Given the description of an element on the screen output the (x, y) to click on. 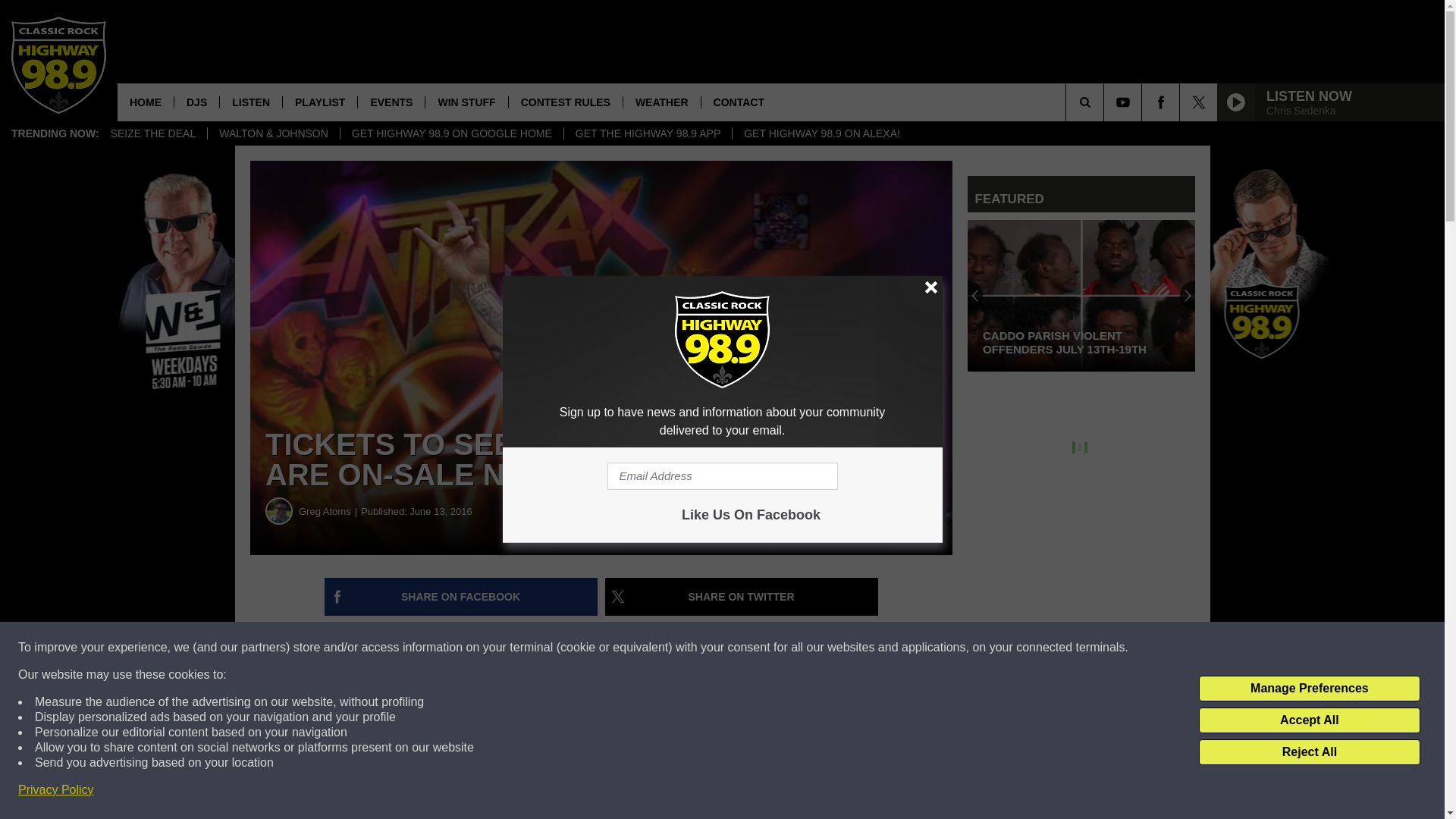
GET HIGHWAY 98.9 ON GOOGLE HOME (451, 133)
CONTEST RULES (565, 102)
WIN STUFF (465, 102)
Privacy Policy (55, 789)
GET HIGHWAY 98.9 ON ALEXA! (821, 133)
HOME (145, 102)
Manage Preferences (1309, 688)
Share on Twitter (741, 596)
Email Address (722, 475)
SEARCH (1106, 102)
Accept All (1309, 720)
Share on Facebook (460, 596)
SEIZE THE DEAL (153, 133)
SEARCH (1106, 102)
DJS (196, 102)
